Given the description of an element on the screen output the (x, y) to click on. 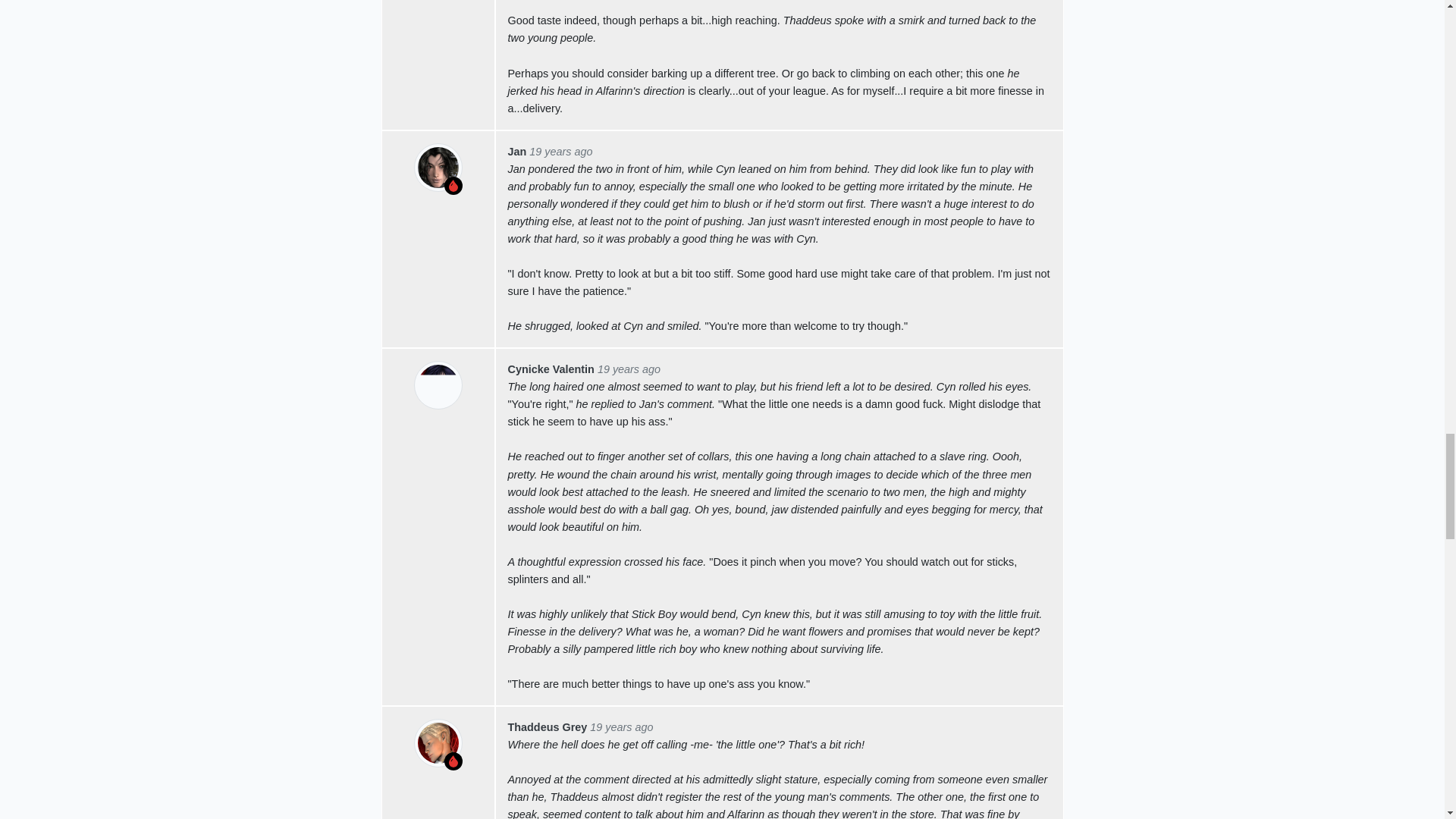
Jan (517, 151)
Thaddeus Grey (548, 727)
Cynicke Valentin (551, 369)
